Given the description of an element on the screen output the (x, y) to click on. 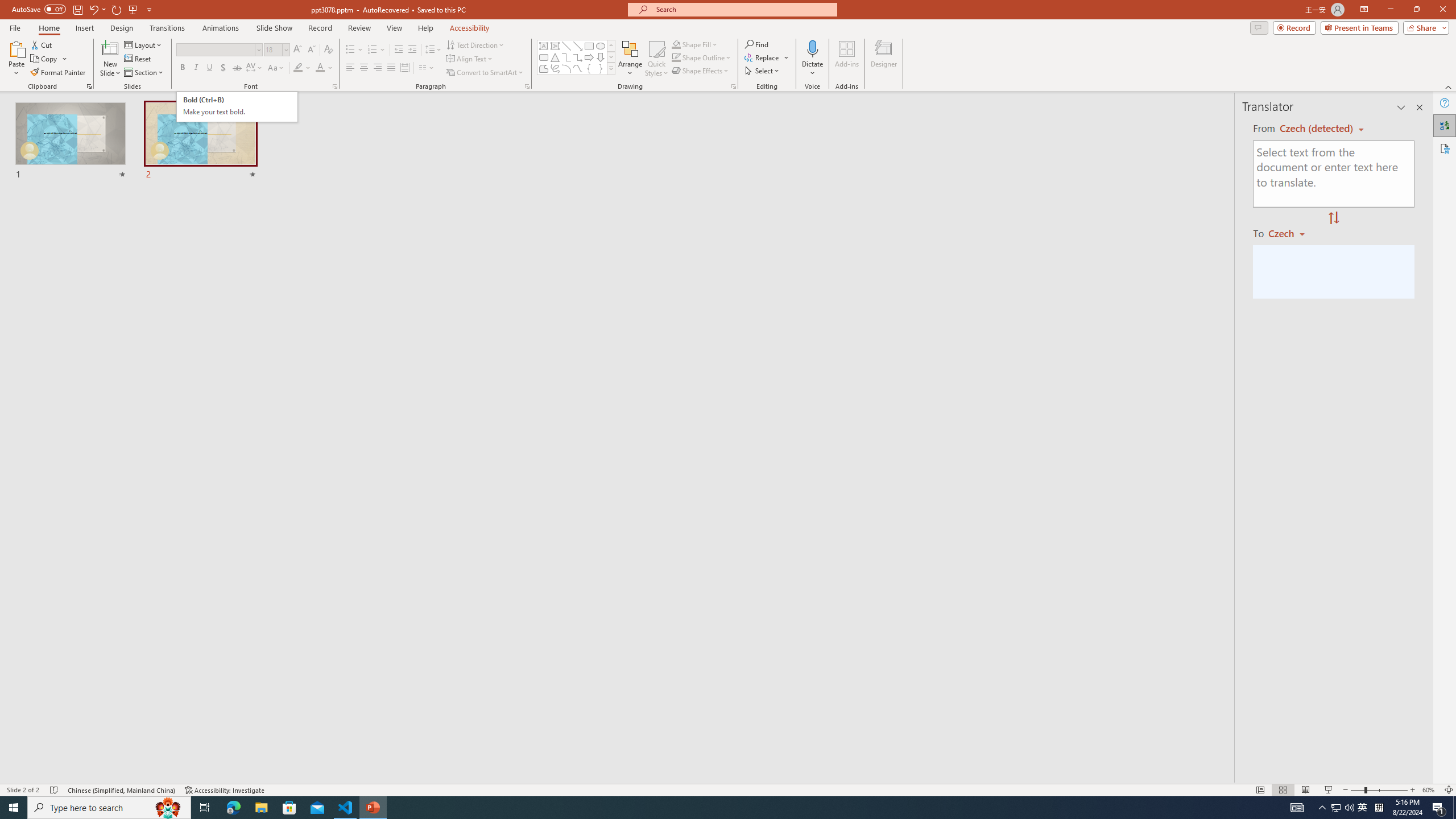
Align Left (349, 67)
Arrow: Down (600, 57)
Font... (334, 85)
Isosceles Triangle (554, 57)
